Given the description of an element on the screen output the (x, y) to click on. 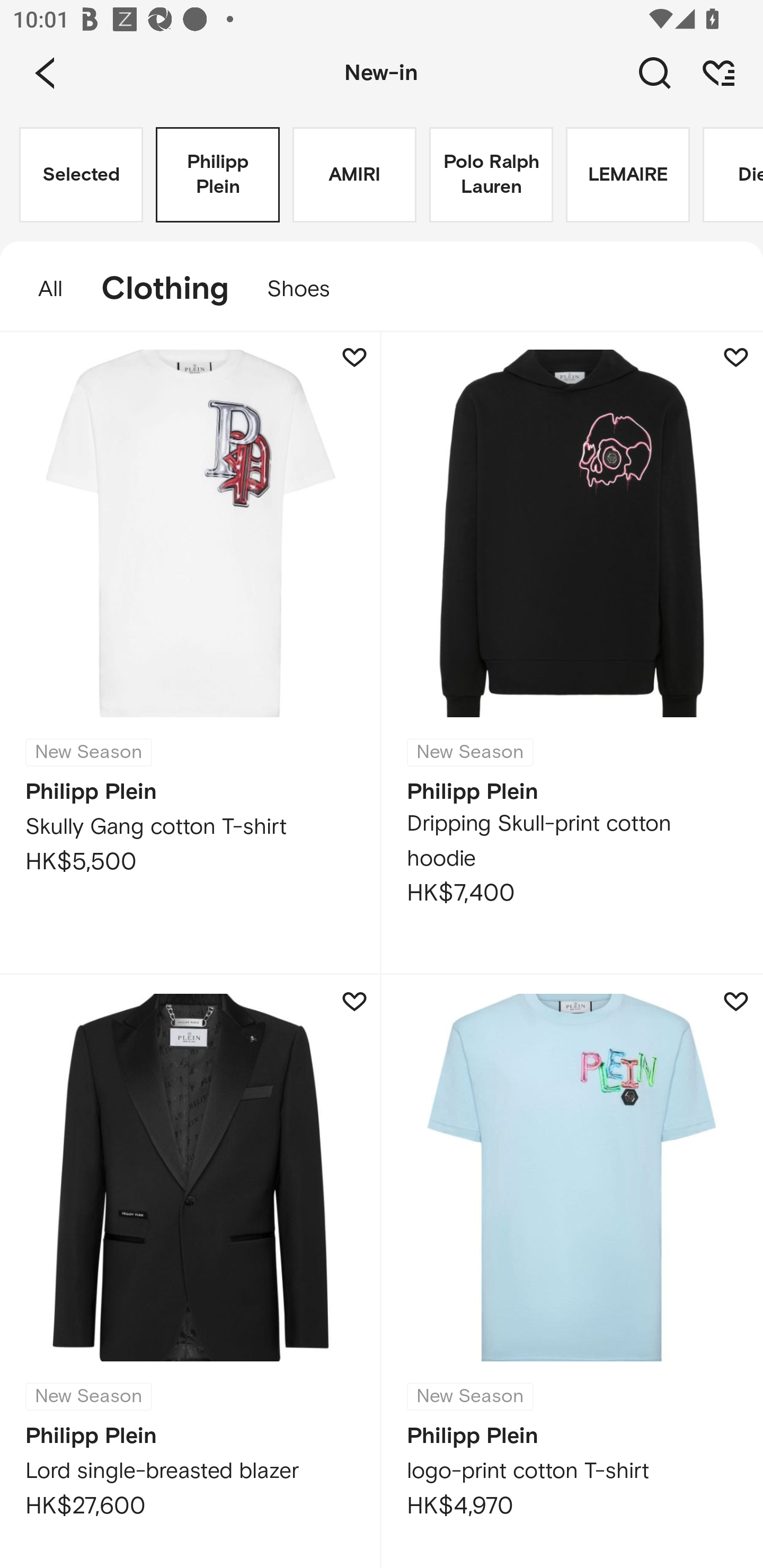
Selected (81, 174)
Philipp Plein (217, 174)
AMIRI (354, 174)
Polo Ralph Lauren (490, 174)
LEMAIRE (627, 174)
All (40, 288)
Clothing (164, 288)
Shoes (307, 288)
